Given the description of an element on the screen output the (x, y) to click on. 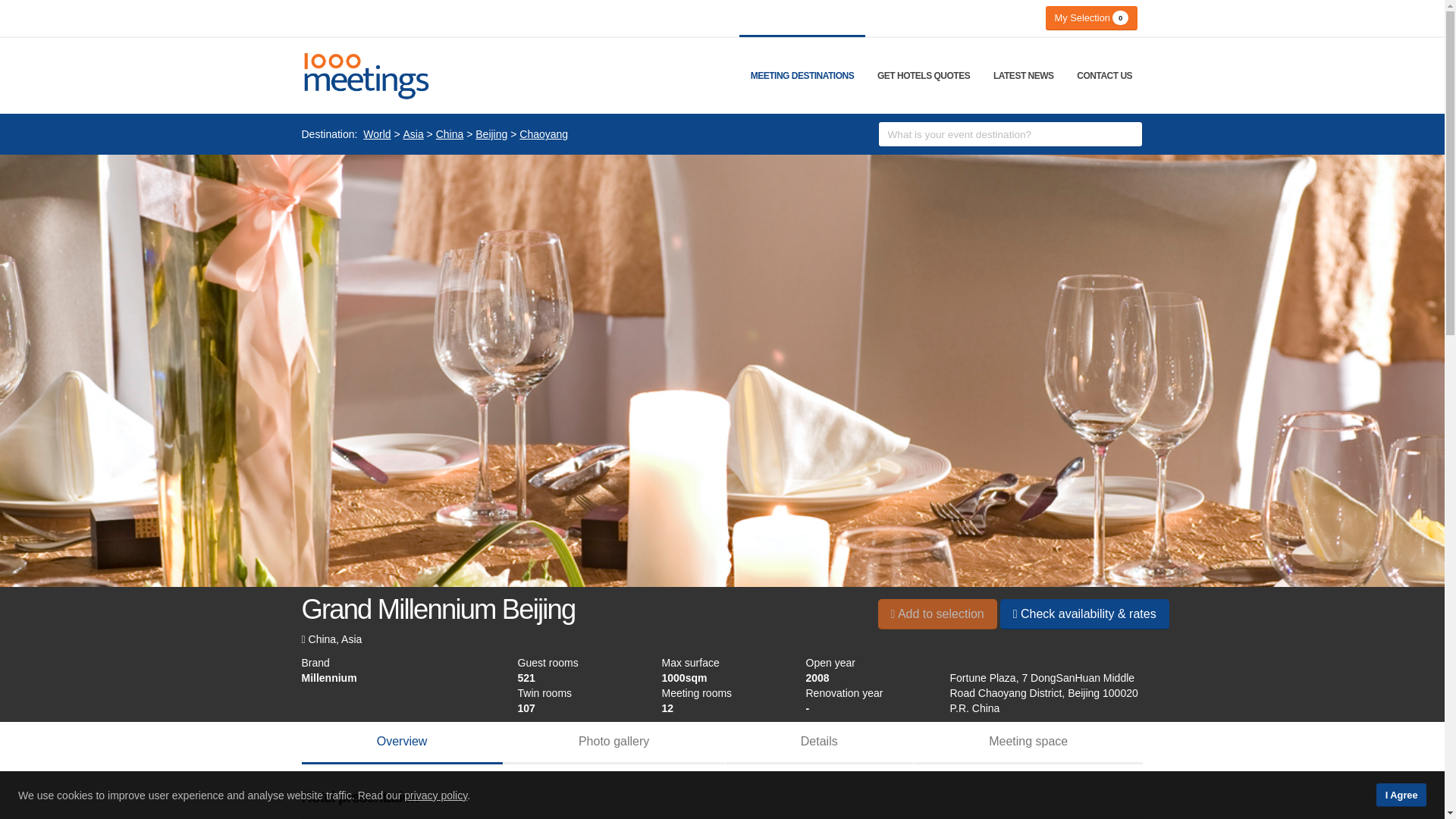
GET HOTELS QUOTES (923, 75)
My Selection 0 (1091, 17)
Details (818, 742)
LATEST NEWS (1023, 75)
Add to selection (937, 613)
Asia (413, 134)
World (376, 134)
Photo gallery (614, 742)
China (449, 134)
Chaoyang (543, 134)
CONTACT US (1103, 75)
privacy policy (435, 795)
Meeting space (1028, 742)
Beijing (491, 134)
I Agree (1400, 794)
